Given the description of an element on the screen output the (x, y) to click on. 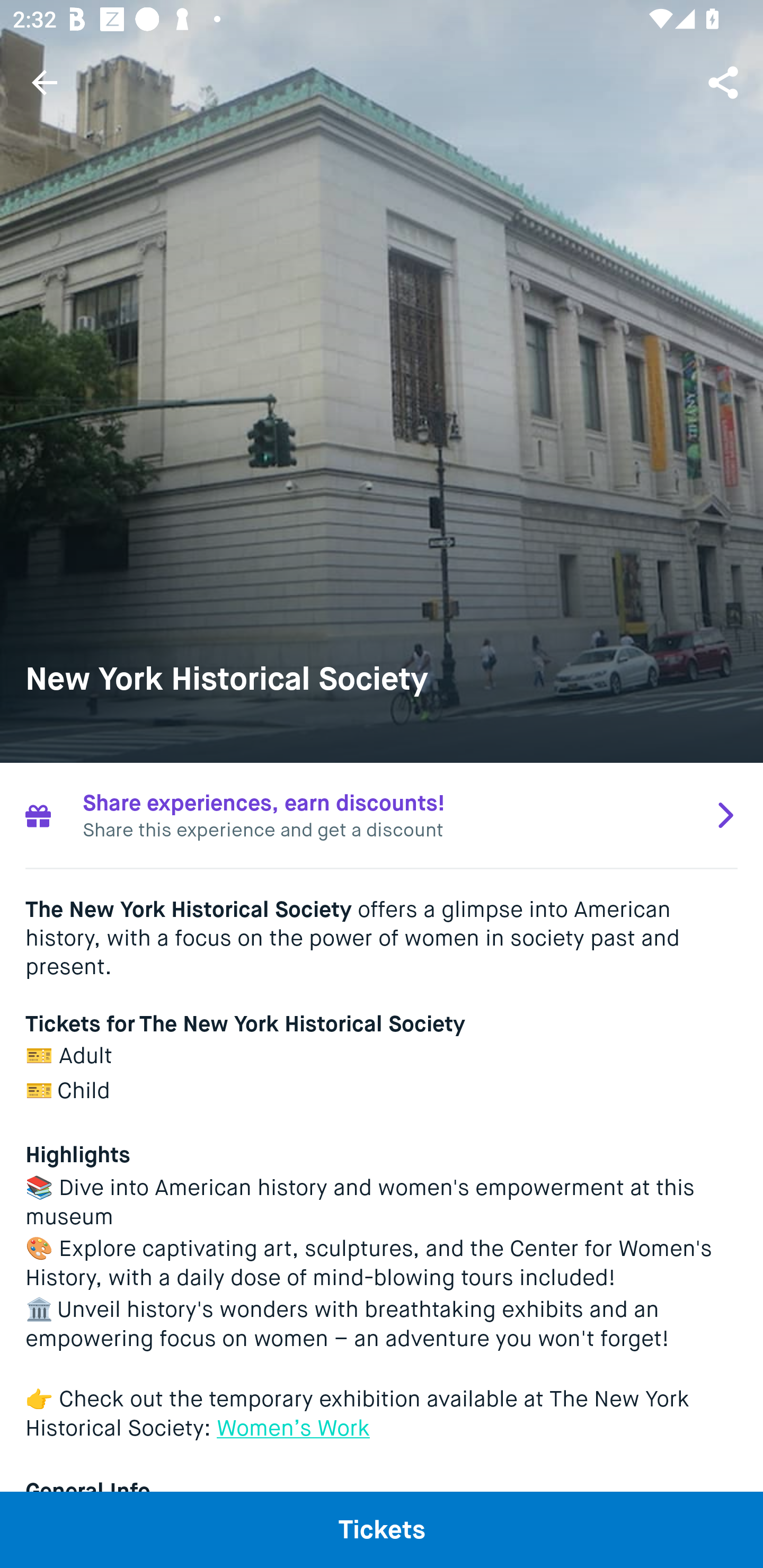
Navigate up (44, 82)
Share (724, 81)
Tickets (381, 1529)
